Given the description of an element on the screen output the (x, y) to click on. 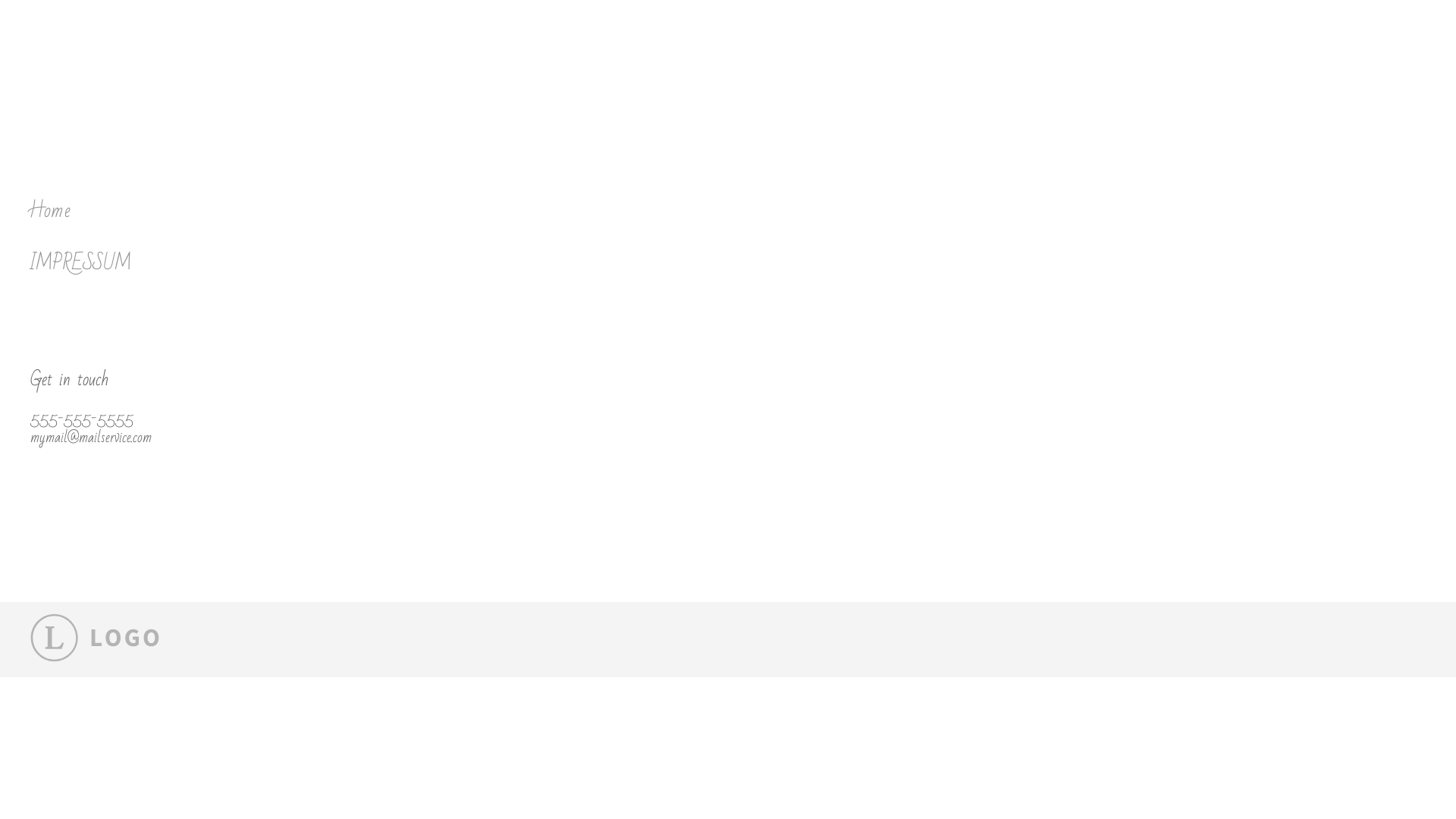
IMPRESSUM Element type: text (386, 263)
Home Element type: text (386, 210)
